Given the description of an element on the screen output the (x, y) to click on. 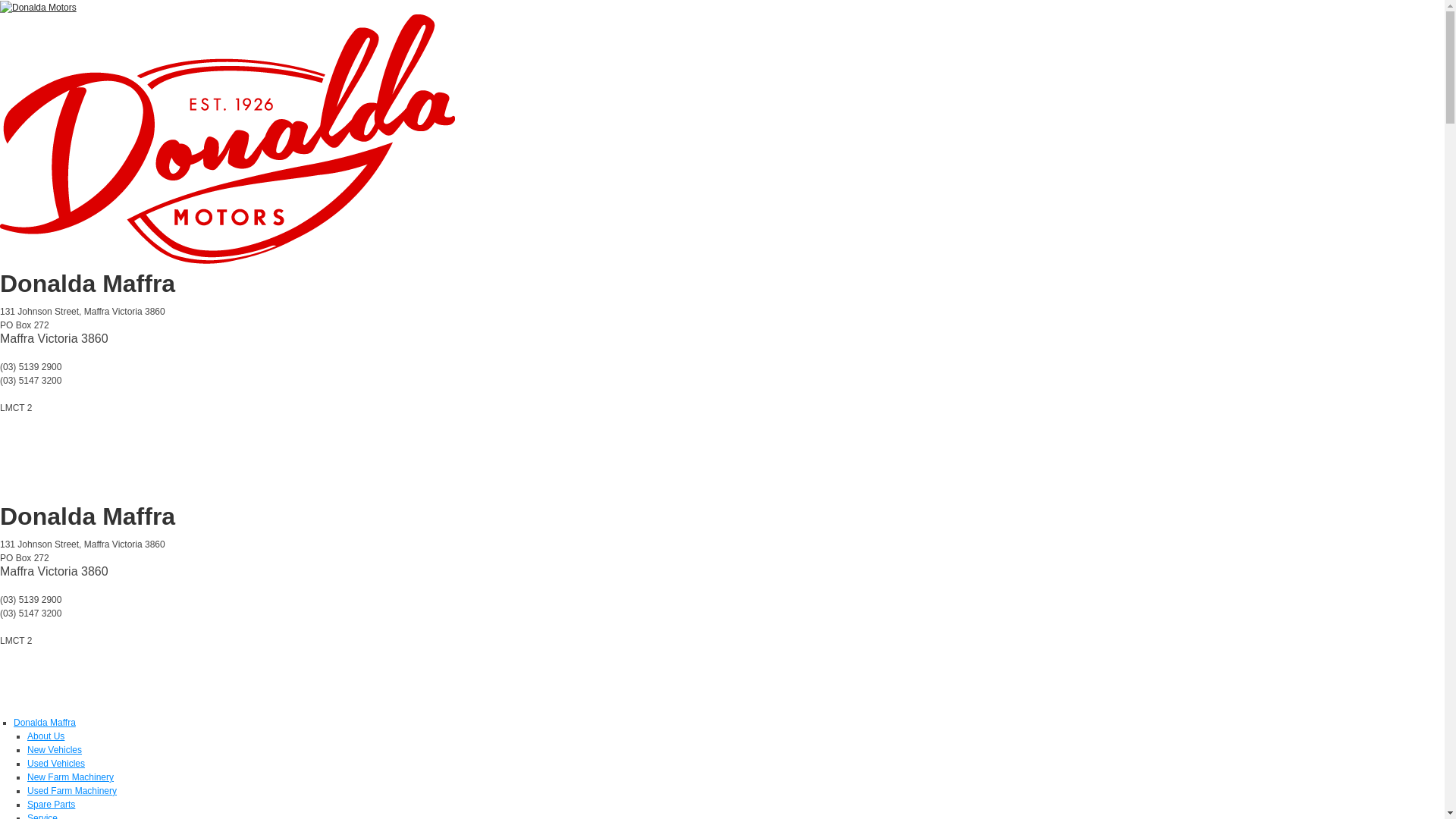
About Us Element type: text (45, 736)
Donalda Motors Element type: hover (227, 138)
New Farm Machinery Element type: text (70, 776)
Used Farm Machinery Element type: text (71, 790)
Donalda Maffra Element type: text (44, 722)
Donalda Motors Element type: hover (38, 6)
Used Vehicles Element type: text (55, 763)
New Vehicles Element type: text (54, 749)
Spare Parts Element type: text (51, 804)
